Given the description of an element on the screen output the (x, y) to click on. 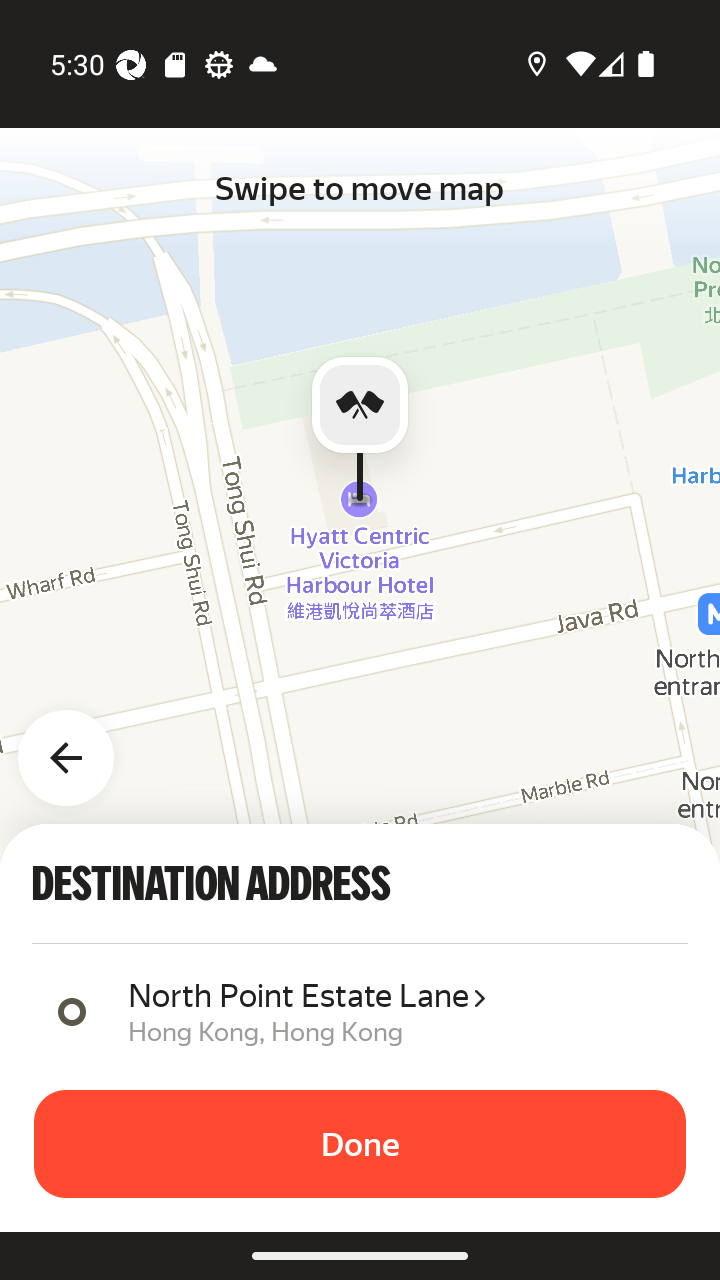
Back (78, 746)
North Point Estate Lane   Hong Kong, Hong Kong (399, 1010)
Done (359, 1144)
